Given the description of an element on the screen output the (x, y) to click on. 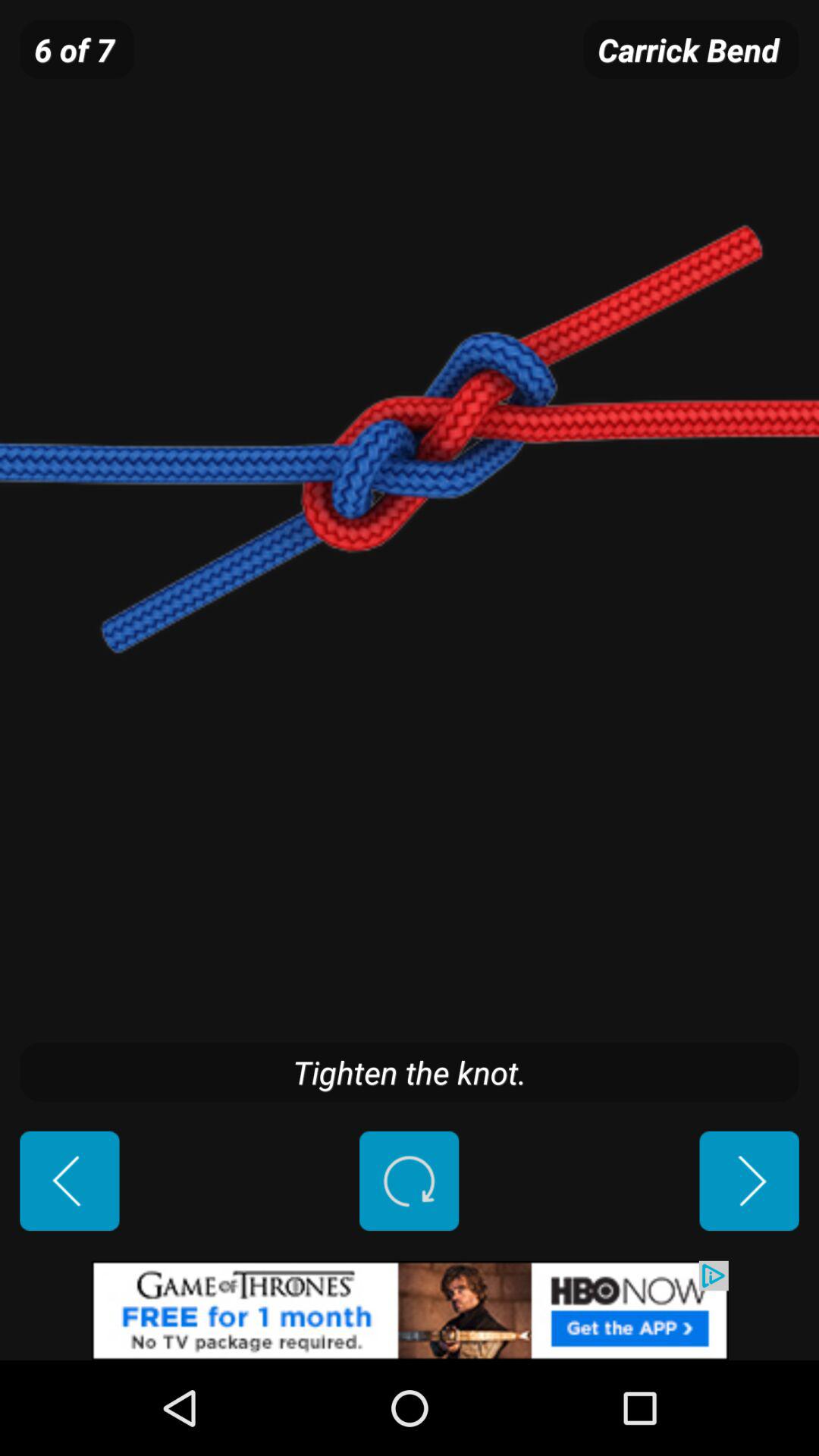
hbo now add (409, 1310)
